Given the description of an element on the screen output the (x, y) to click on. 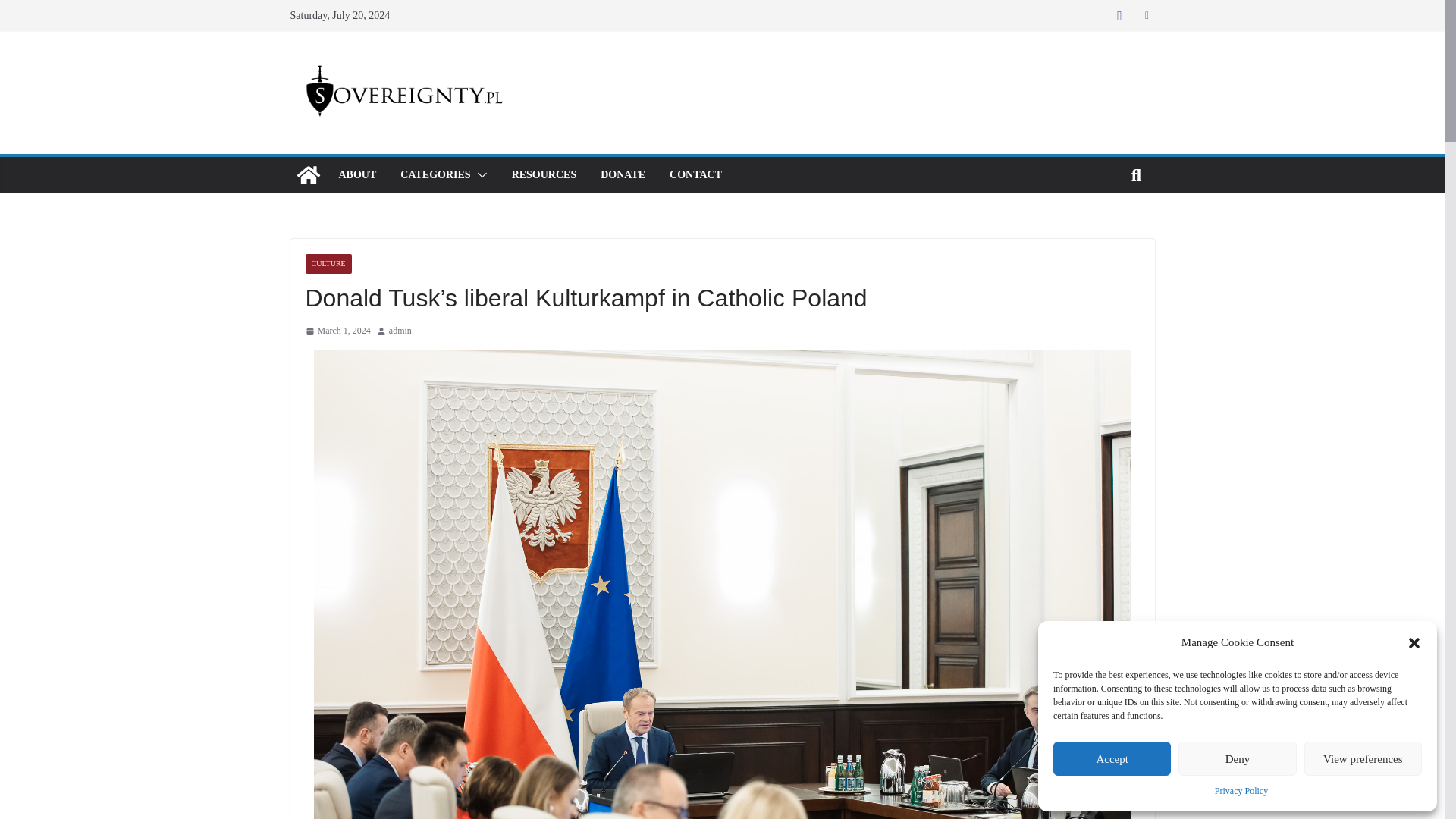
admin (400, 330)
ABOUT (356, 174)
Accept (1111, 758)
4:30 pm (336, 330)
CONTACT (695, 174)
RESOURCES (544, 174)
Deny (1236, 758)
March 1, 2024 (336, 330)
Privacy Policy (1241, 791)
CATEGORIES (435, 174)
CULTURE (327, 263)
View preferences (1363, 758)
Sovereignty.pl (307, 175)
admin (400, 330)
DONATE (622, 174)
